Given the description of an element on the screen output the (x, y) to click on. 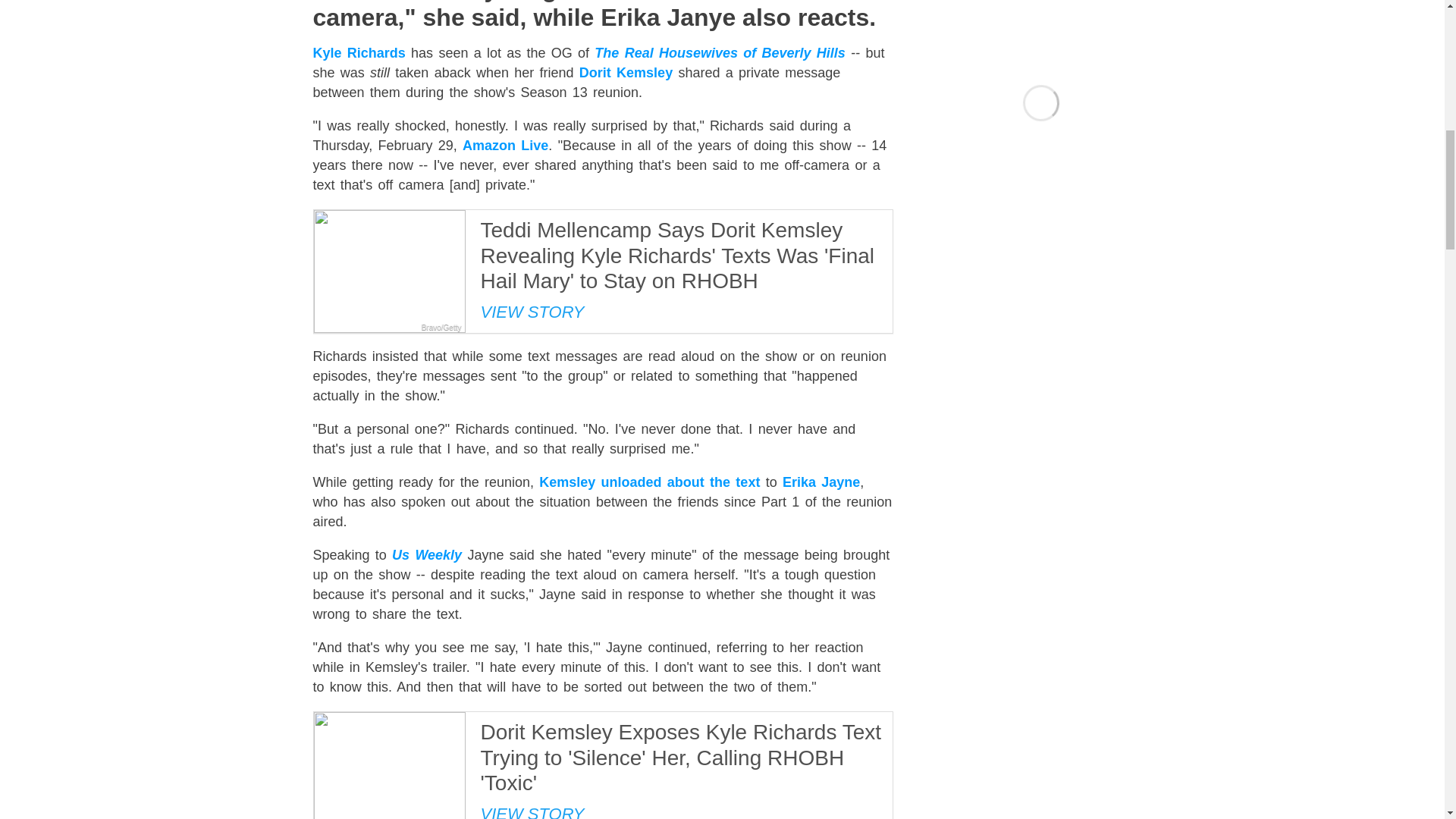
Dorit Kemsley (625, 72)
The Real Housewives of Beverly Hills (719, 52)
Kyle Richards (358, 52)
Amazon Live (505, 145)
